Given the description of an element on the screen output the (x, y) to click on. 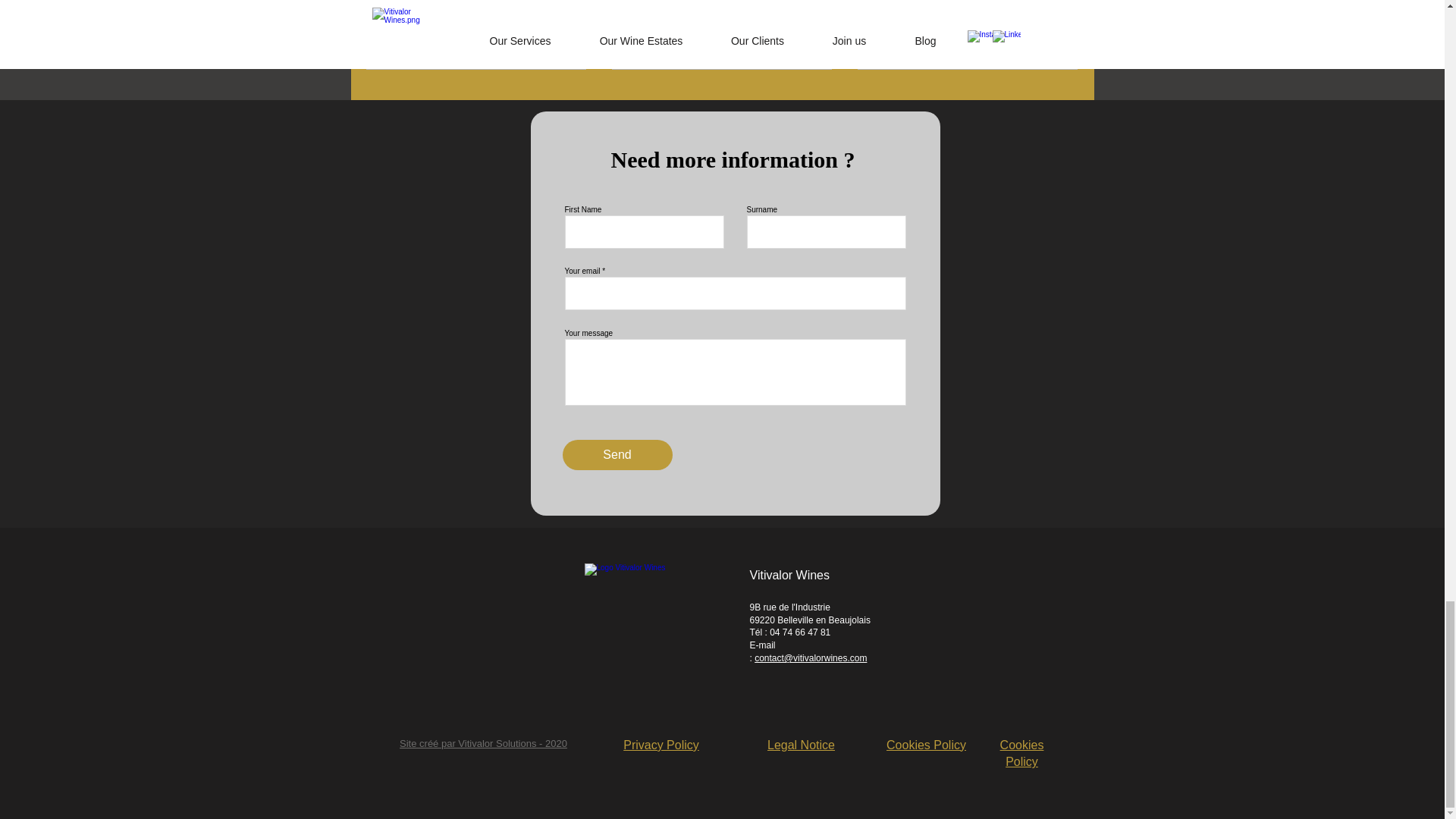
Send (617, 454)
The Right of Cork: Bringing your Wine to the Restaurant (967, 24)
om (860, 657)
Privacy Policy (660, 744)
Legal Notice (800, 744)
Spirits set to overtake wine in global sales (721, 24)
Logo Vitivalor Wines (649, 606)
Cookies Policy (926, 744)
Cookies Policy (1021, 753)
